Given the description of an element on the screen output the (x, y) to click on. 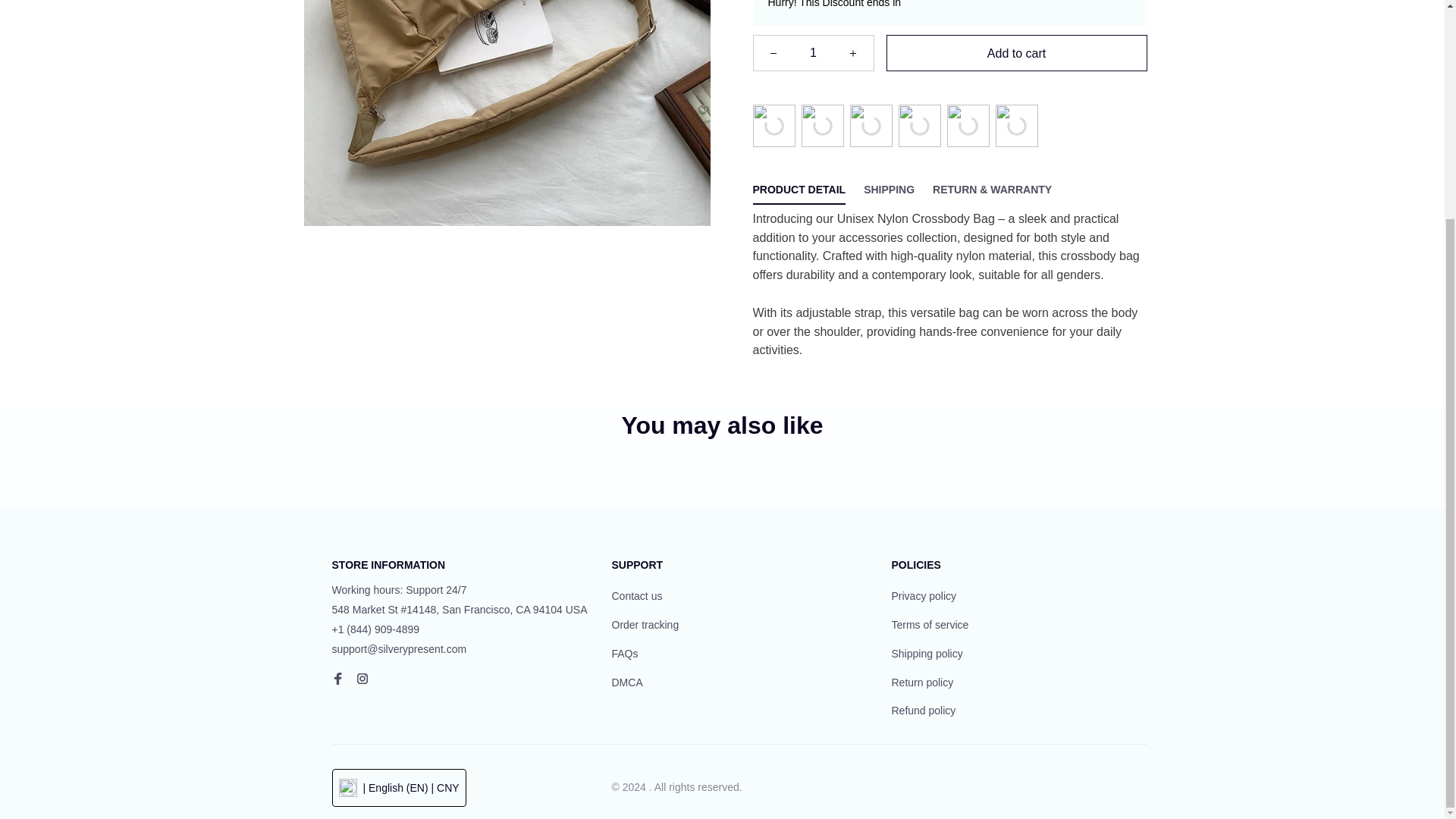
Return policy (922, 682)
Contact us (636, 596)
Terms of service (930, 625)
Order tracking (644, 625)
FAQs (624, 654)
PRODUCT DETAIL (798, 189)
Shipping policy (926, 654)
Privacy policy (923, 596)
Refund policy (923, 710)
1 (812, 53)
SHIPPING (888, 189)
DMCA (626, 682)
